Given the description of an element on the screen output the (x, y) to click on. 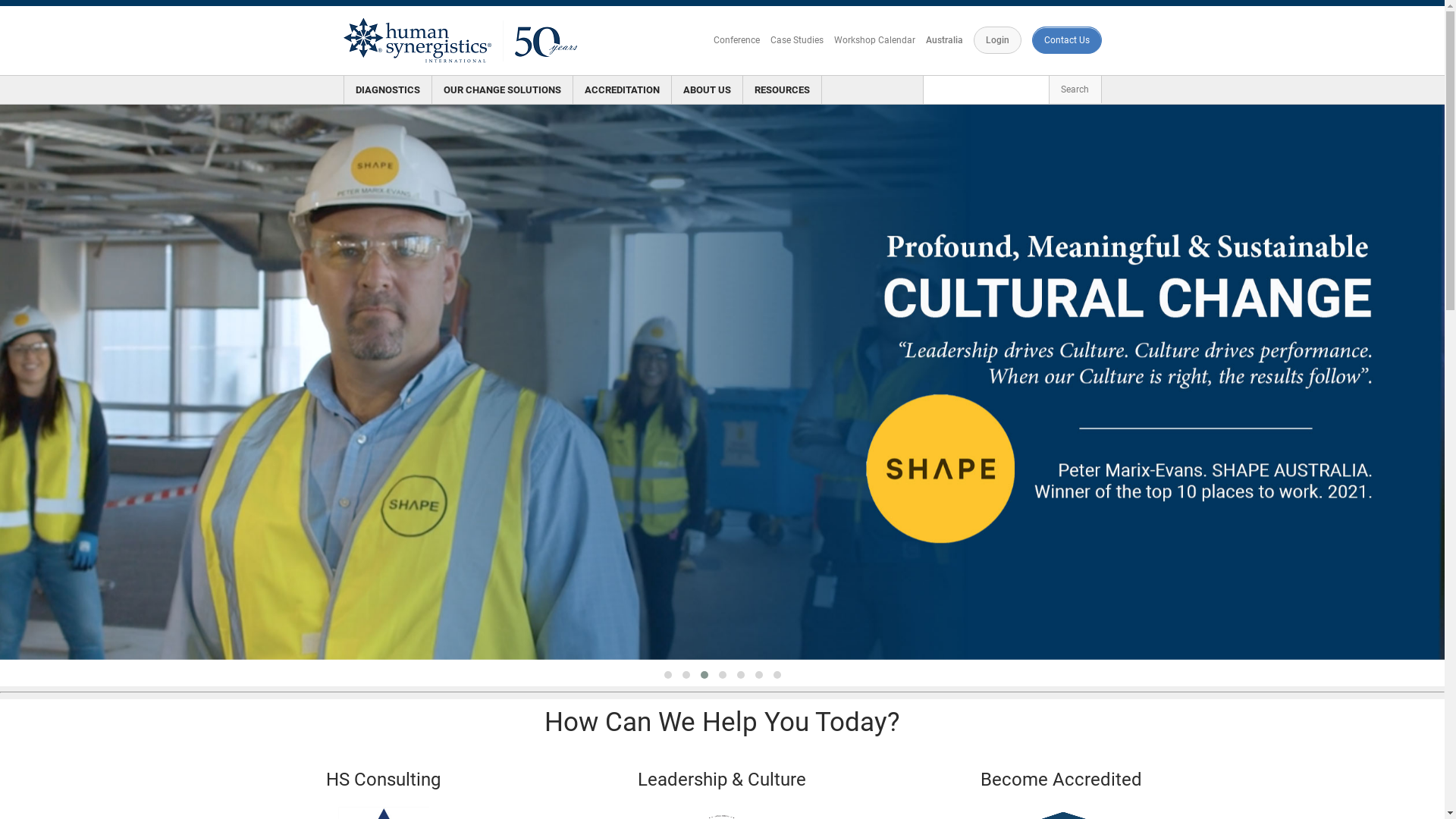
Australia Element type: text (943, 39)
ABOUT US Element type: text (706, 89)
Search Element type: text (1074, 89)
ACCREDITATION Element type: text (622, 89)
Conference Element type: text (735, 39)
OUR CHANGE SOLUTIONS Element type: text (502, 89)
Contact Us Element type: text (1066, 39)
Login Element type: text (997, 39)
HS 50 Logo Element type: hover (461, 40)
Case Studies Element type: text (796, 39)
DIAGNOSTICS Element type: text (387, 89)
RESOURCES Element type: text (782, 89)
Workshop Calendar Element type: text (874, 39)
